Given the description of an element on the screen output the (x, y) to click on. 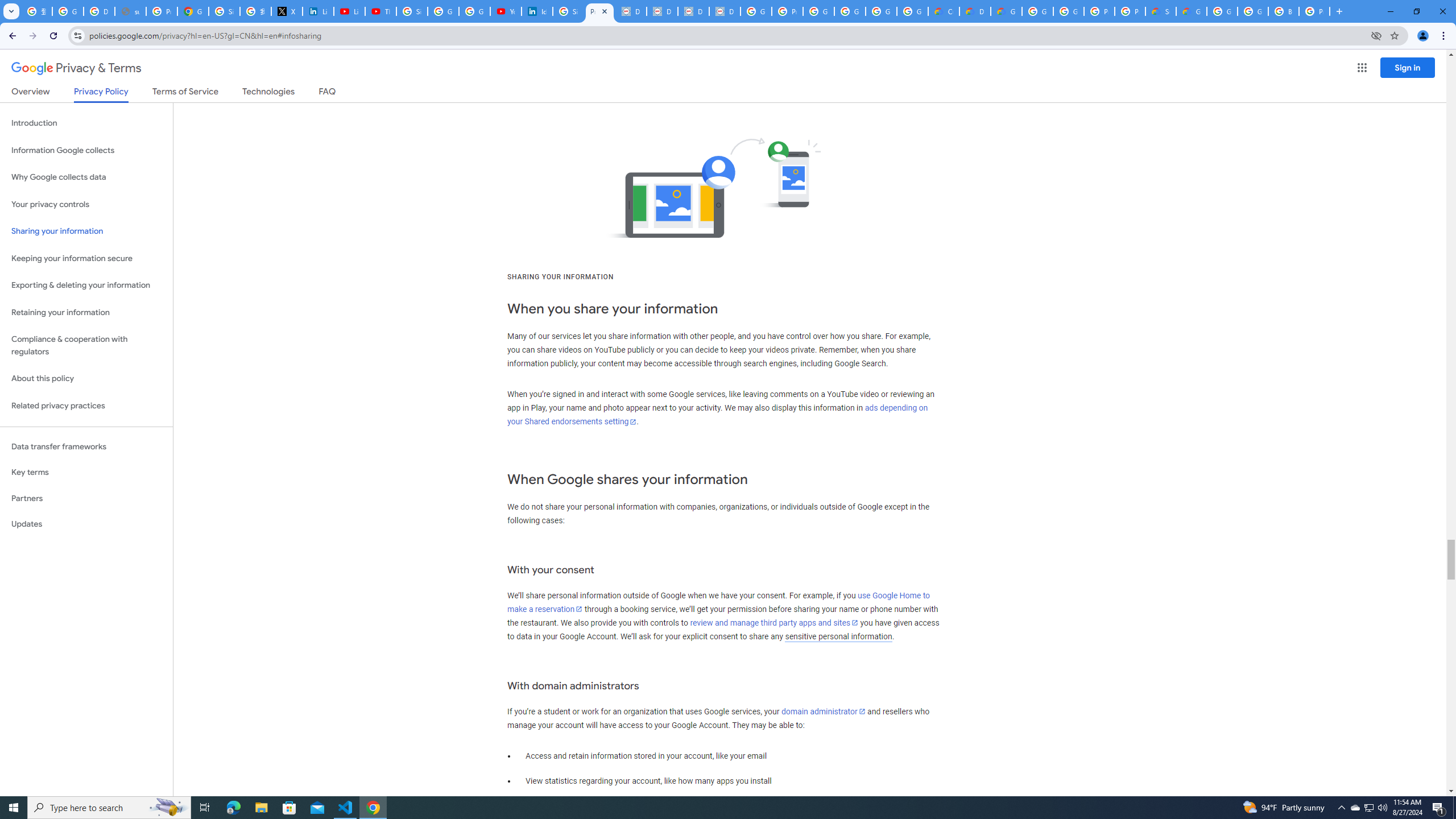
LinkedIn Privacy Policy (318, 11)
Sign in - Google Accounts (223, 11)
domain administrator (823, 710)
Gemini for Business and Developers | Google Cloud (1005, 11)
